Given the description of an element on the screen output the (x, y) to click on. 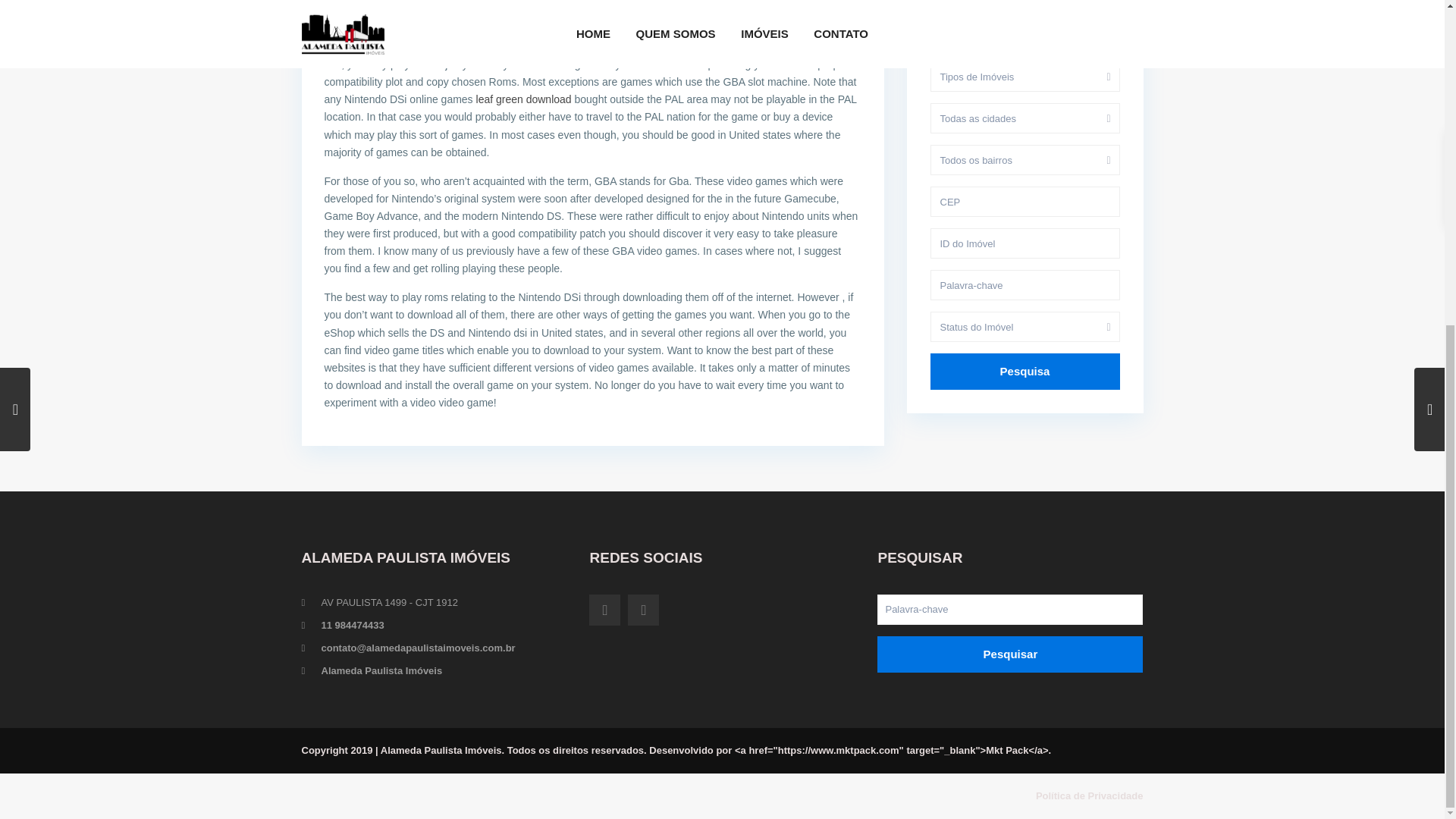
leaf green download (524, 99)
Pesquisa (1024, 370)
Uncategorized (512, 5)
Pesquisar (1009, 654)
11 984474433 (352, 624)
